Given the description of an element on the screen output the (x, y) to click on. 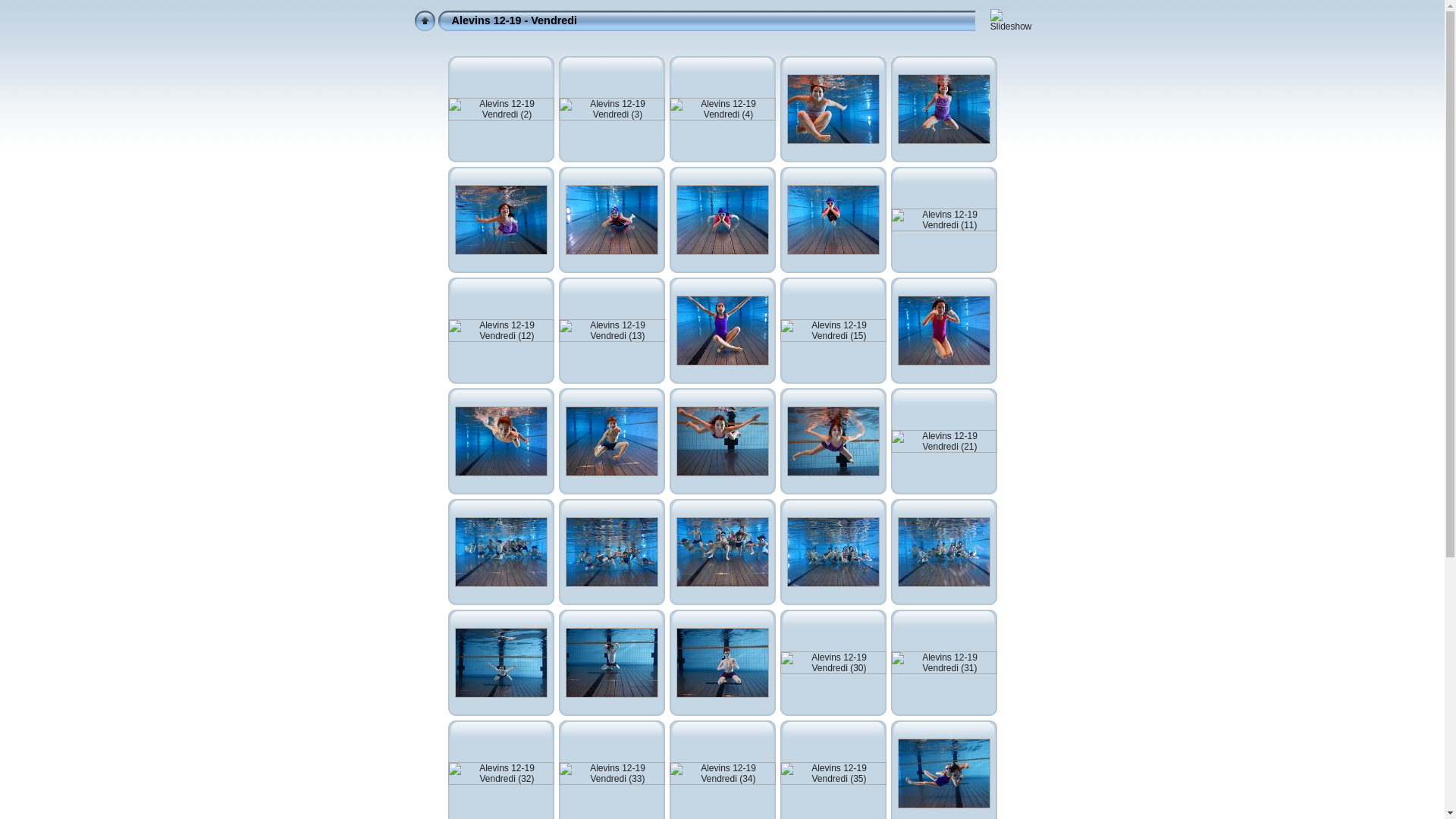
 Alevins 12-19 Vendredi (12).JPG  Element type: hover (500, 330)
 Alevins 12-19 Vendredi (24).JPG  Element type: hover (722, 551)
 Alevins 12-19 Vendredi (15).JPG  Element type: hover (832, 330)
 Alevins 12-19 Vendredi (19).JPG  Element type: hover (722, 441)
 Alevins 12-19 Vendredi (10).JPG  Element type: hover (833, 219)
 Alevins 12-19 Vendredi (27).JPG  Element type: hover (501, 662)
 Alevins 12-19 Vendredi (30).JPG  Element type: hover (832, 662)
 Alevins 12-19 Vendredi (20).JPG  Element type: hover (833, 441)
 Alevins 12-19 Vendredi (35).JPG  Element type: hover (832, 773)
 Alevins 12-19 Vendredi (8).JPG  Element type: hover (611, 219)
 Alevins 12-19 Vendredi (31).JPG  Element type: hover (943, 662)
 Alevins 12-19 Vendredi (4).JPG  Element type: hover (721, 108)
 Alevins 12-19 Vendredi (9).JPG  Element type: hover (722, 219)
 Alevins 12-19 Vendredi (11).JPG  Element type: hover (943, 219)
 Alevins 12-19 Vendredi (18).JPG  Element type: hover (611, 441)
 Alevins 12-19 Vendredi (17).JPG  Element type: hover (501, 441)
 Alevins 12-19 Vendredi (14).JPG  Element type: hover (722, 330)
 Alevins 12-19 Vendredi (23).JPG  Element type: hover (611, 551)
 Alevins 12-19 Vendredi (29).JPG  Element type: hover (722, 662)
 Alevins 12-19 Vendredi (25).JPG  Element type: hover (833, 551)
 Alevins 12-19 Vendredi (21).JPG  Element type: hover (943, 440)
 Alevins 12-19 Vendredi (3).JPG  Element type: hover (611, 108)
 Alevins 12-19 Vendredi (5).JPG  Element type: hover (833, 109)
 Alevins 12-19 Vendredi (2).JPG  Element type: hover (500, 108)
 Alevins 12-19 Vendredi (22).JPG  Element type: hover (501, 551)
 Alevins 12-19 Vendredi (28).JPG  Element type: hover (611, 662)
 Alevins 12-19 Vendredi (13).JPG  Element type: hover (611, 330)
 Alevins 12-19 Vendredi (36).JPG  Element type: hover (943, 773)
 Alevins 12-19 Vendredi (34).JPG  Element type: hover (721, 773)
 Alevins 12-19 Vendredi (7).JPG  Element type: hover (501, 219)
 Alevins 12-19 Vendredi (32).JPG  Element type: hover (500, 773)
 Alevins 12-19 Vendredi (33).JPG  Element type: hover (611, 773)
 Alevins 12-19 Vendredi (26).JPG  Element type: hover (943, 551)
 Alevins 12-19 Vendredi (16).JPG  Element type: hover (943, 330)
 Alevins 12-19 Vendredi (6).JPG  Element type: hover (943, 109)
 Remonter d'un niveau  Element type: hover (424, 20)
